Given the description of an element on the screen output the (x, y) to click on. 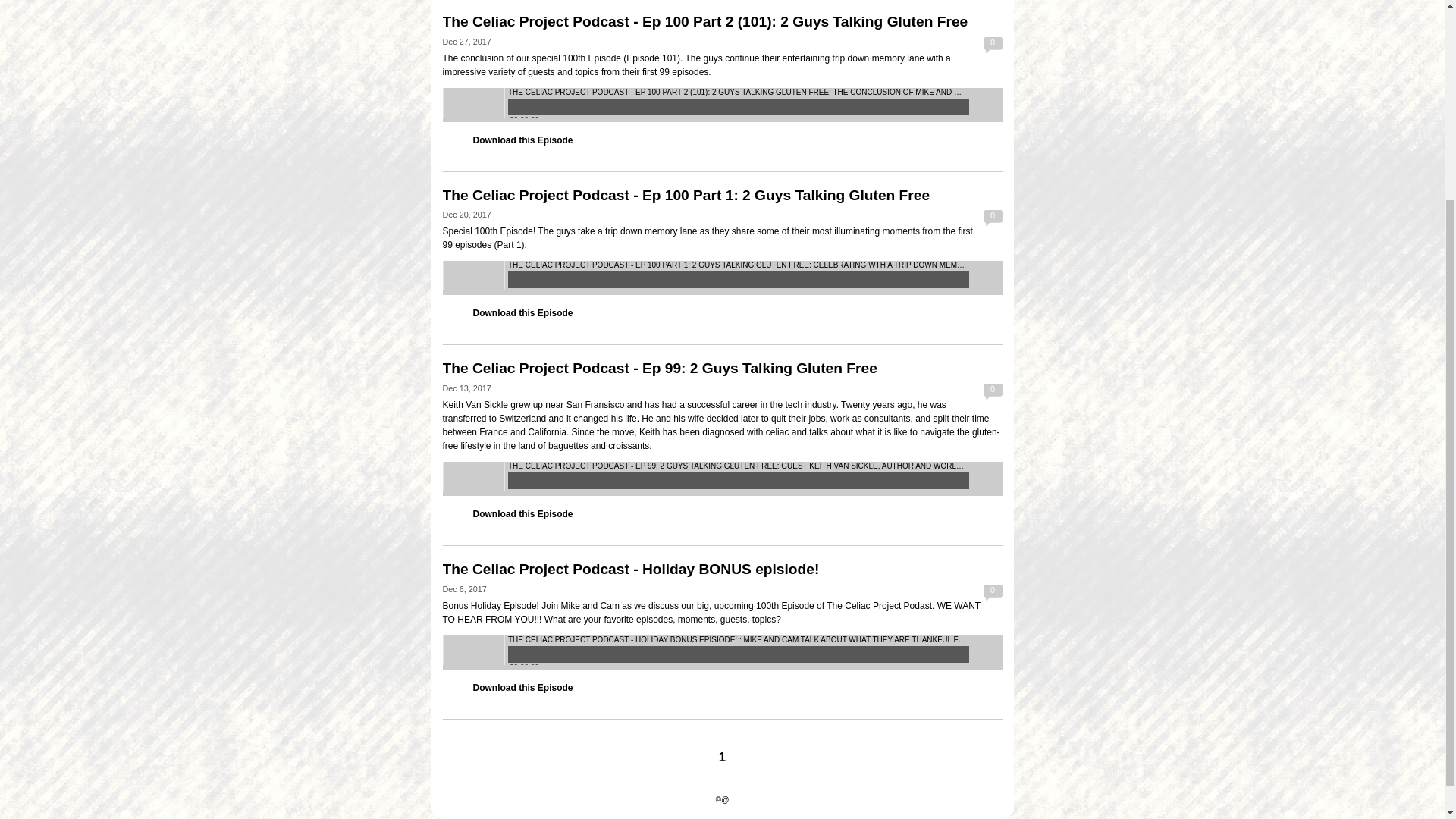
Libsyn Player (722, 277)
Libsyn Player (722, 104)
Libsyn Player (722, 652)
Libsyn Player (722, 478)
